Given the description of an element on the screen output the (x, y) to click on. 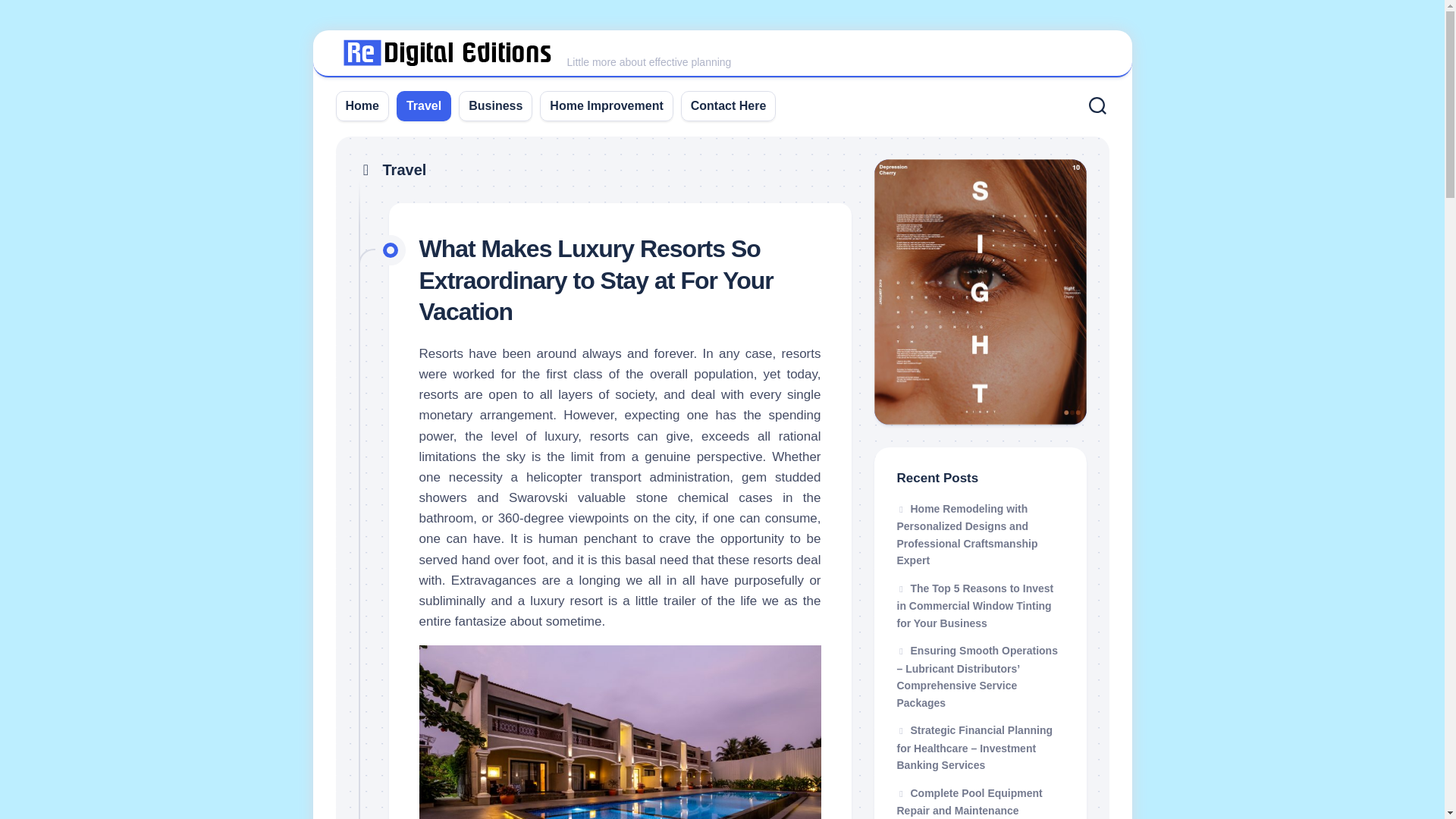
Home Improvement (606, 105)
Complete Pool Equipment Repair and Maintenance Services (969, 803)
Business (495, 105)
Contact Here (728, 105)
Little more about effective planning (722, 53)
Travel (423, 105)
Home (362, 105)
